Given the description of an element on the screen output the (x, y) to click on. 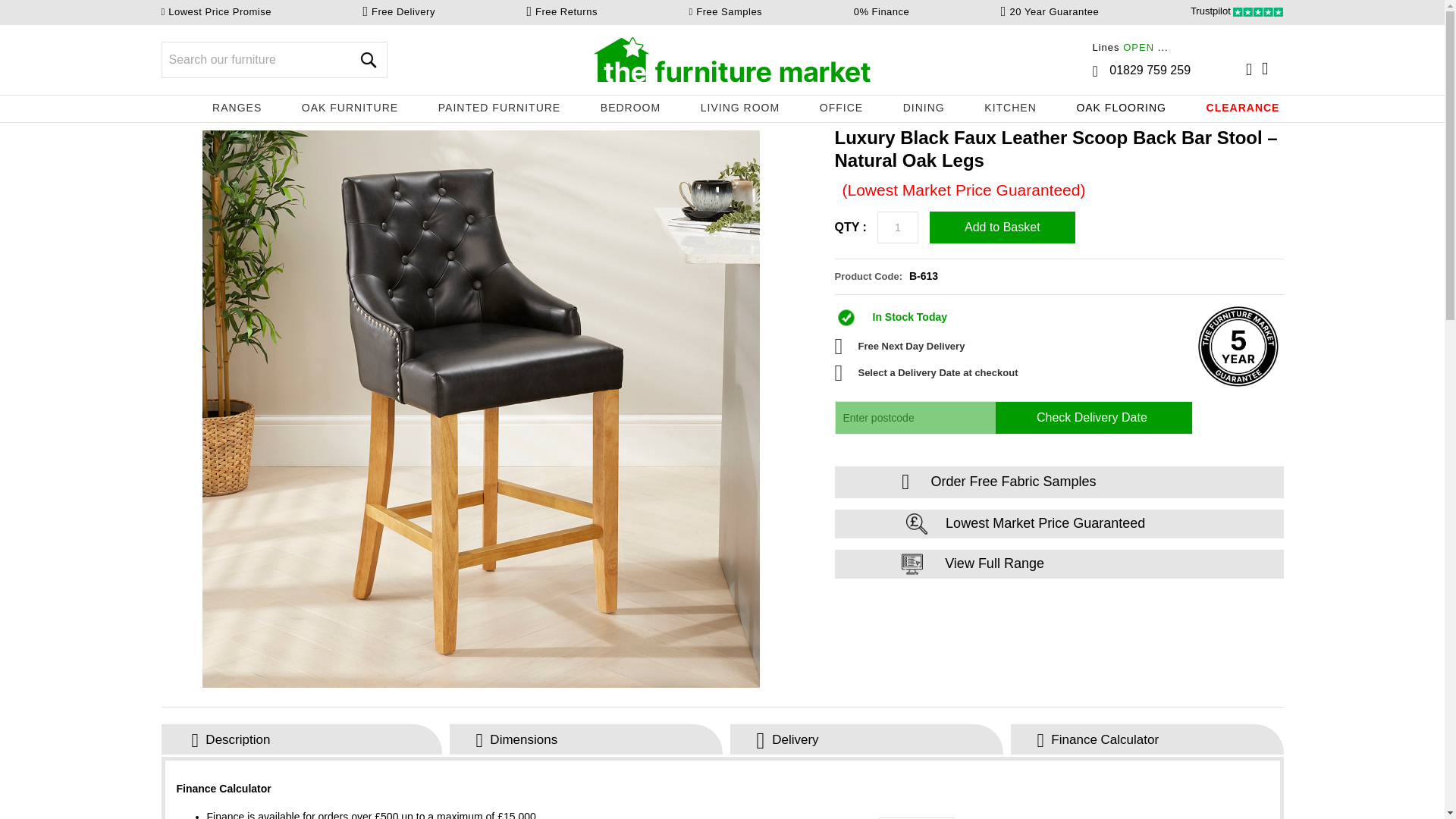
Search (368, 59)
RANGES (234, 108)
The Furniture Market (731, 59)
My Cart (1272, 68)
 Add to Basket (1002, 227)
1 (897, 227)
Qty (897, 227)
500 (917, 818)
Trustpilot (1237, 10)
Availability (1058, 317)
